Given the description of an element on the screen output the (x, y) to click on. 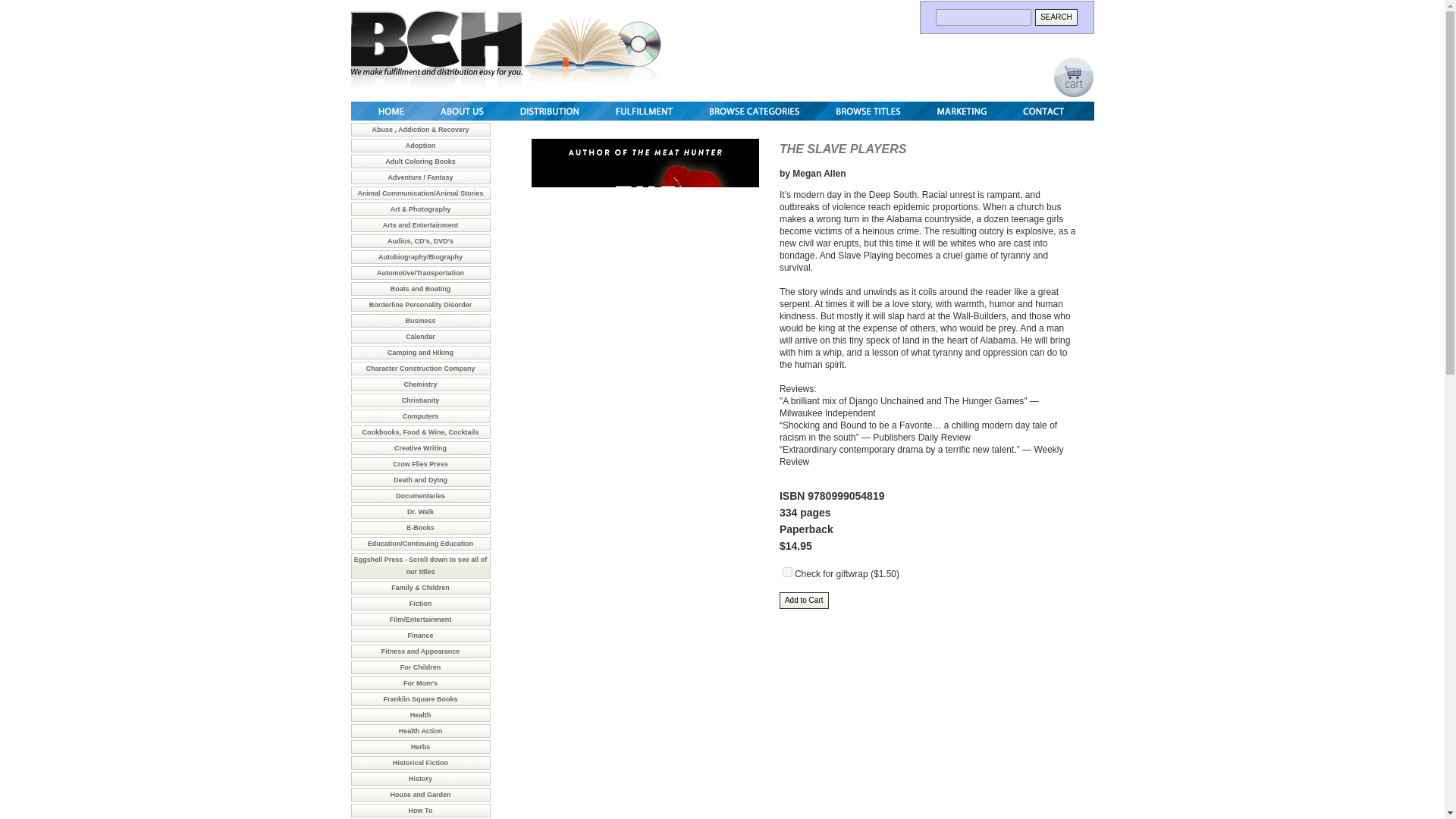
Adult Coloring Books (420, 161)
Franklin Square Books (419, 698)
For Children (420, 666)
Computers (421, 416)
Chemistry (419, 384)
Death and Dying (419, 479)
Health (420, 715)
Calendar (420, 336)
1 (787, 572)
Audios, CD's, DVD's (419, 240)
Borderline Personality Disorder (420, 304)
Adoption (420, 145)
SEARCH (1056, 17)
Health Action (420, 730)
Fiction (420, 603)
